Given the description of an element on the screen output the (x, y) to click on. 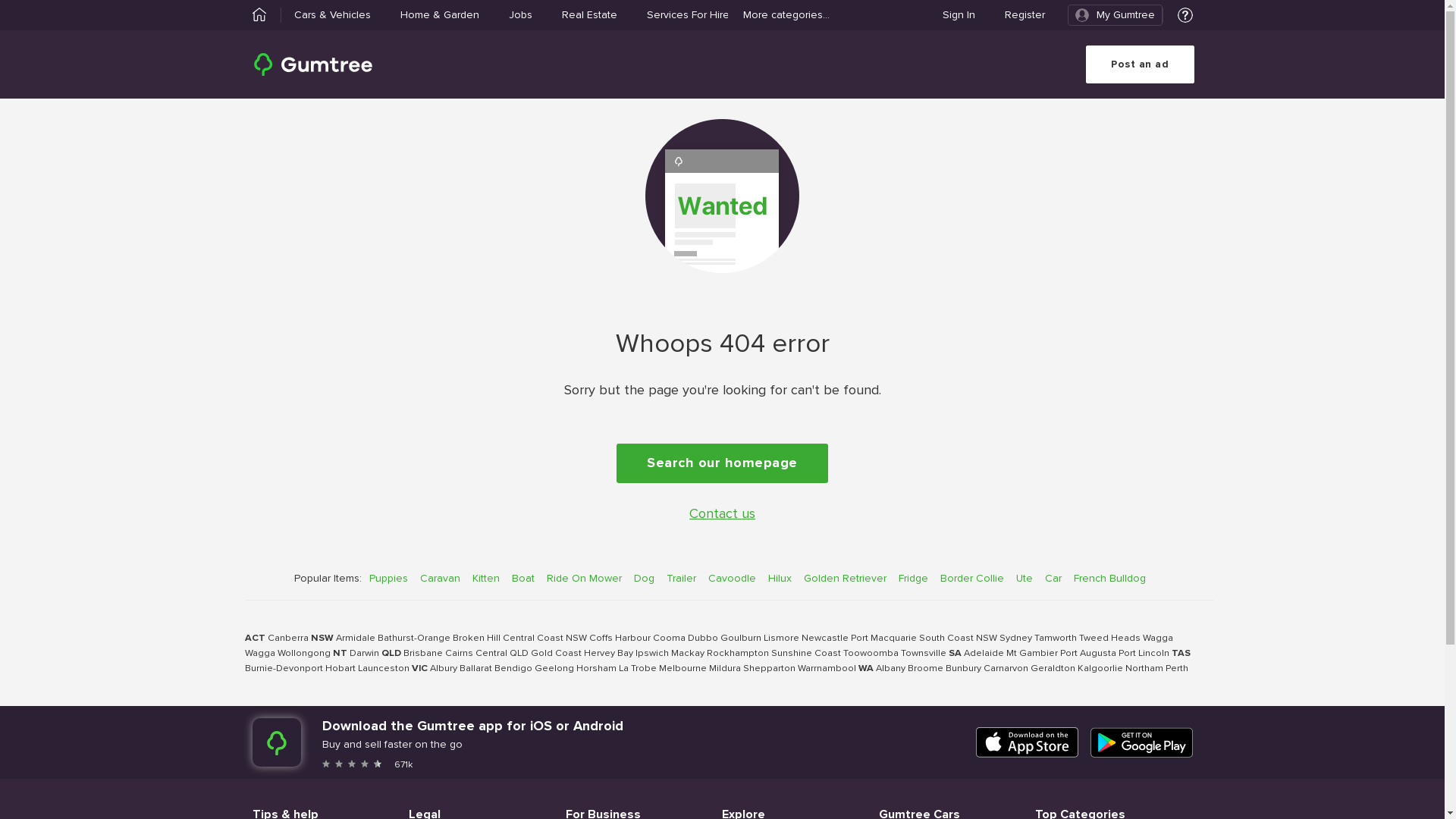
Coffs Harbour Element type: text (618, 638)
Wollongong Element type: text (303, 653)
NT Element type: text (339, 653)
Cars & Vehicles Element type: text (332, 14)
Jobs Element type: text (519, 14)
Ipswich Element type: text (651, 653)
Horsham Element type: text (596, 668)
Geelong Element type: text (553, 668)
Cairns Element type: text (458, 653)
WA Element type: text (865, 668)
Newcastle Element type: text (823, 638)
Kitten Element type: text (485, 578)
NSW Element type: text (321, 638)
Perth Element type: text (1175, 668)
Ute Element type: text (1024, 578)
French Bulldog Element type: text (1109, 578)
Boat Element type: text (523, 578)
Mt Gambier Element type: text (1031, 653)
Border Collie Element type: text (971, 578)
SA Element type: text (953, 653)
Mildura Element type: text (724, 668)
Bendigo Element type: text (513, 668)
Carnarvon Element type: text (1004, 668)
Townsville Element type: text (923, 653)
Ballarat Element type: text (475, 668)
Sydney Element type: text (1015, 638)
Caravan Element type: text (439, 578)
Port Augusta Element type: text (1088, 653)
Gold Coast Element type: text (555, 653)
Golden Retriever Element type: text (845, 578)
Canberra Element type: text (286, 638)
Albury Element type: text (442, 668)
Lismore Element type: text (780, 638)
Tamworth Element type: text (1055, 638)
Dubbo Element type: text (702, 638)
Trailer Element type: text (681, 578)
Puppies Element type: text (388, 578)
TAS Element type: text (1179, 653)
Central QLD Element type: text (500, 653)
Contact us Element type: text (722, 513)
Melbourne Element type: text (682, 668)
Broken Hill Element type: text (475, 638)
Search our homepage Element type: text (722, 463)
Cavoodle Element type: text (731, 578)
Central Coast NSW Element type: text (544, 638)
Kalgoorlie Element type: text (1099, 668)
Hilux Element type: text (779, 578)
ACT Element type: text (254, 638)
Mackay Element type: text (686, 653)
Burnie-Devonport Element type: text (283, 668)
Darwin Element type: text (363, 653)
Cooma Element type: text (668, 638)
Armidale Element type: text (354, 638)
Fridge Element type: text (913, 578)
Port Macquarie Element type: text (883, 638)
VIC Element type: text (418, 668)
Car Element type: text (1053, 578)
More categories... Element type: text (786, 15)
Real Estate Element type: text (588, 14)
Shepparton Element type: text (769, 668)
Sunshine Coast Element type: text (805, 653)
Sign In Element type: text (957, 15)
Northam Element type: text (1144, 668)
Adelaide Element type: text (983, 653)
Home & Garden Element type: text (439, 14)
Register Element type: text (1023, 15)
Launceston Element type: text (383, 668)
Hobart Element type: text (339, 668)
Bathurst-Orange Element type: text (413, 638)
Broome Element type: text (924, 668)
Tweed Heads Element type: text (1108, 638)
Albany Element type: text (889, 668)
Brisbane Element type: text (422, 653)
Post an ad Element type: text (1139, 64)
Geraldton Element type: text (1051, 668)
South Coast NSW Element type: text (958, 638)
Bunbury Element type: text (962, 668)
Ride On Mower Element type: text (584, 578)
Rockhampton Element type: text (737, 653)
QLD Element type: text (390, 653)
Hervey Bay Element type: text (608, 653)
Dog Element type: text (643, 578)
Warrnambool Element type: text (826, 668)
Wagga Wagga Element type: text (708, 645)
Services For Hire Element type: text (687, 14)
Toowoomba Element type: text (870, 653)
Port Lincoln Element type: text (1142, 653)
La Trobe Element type: text (637, 668)
Goulburn Element type: text (740, 638)
